Given the description of an element on the screen output the (x, y) to click on. 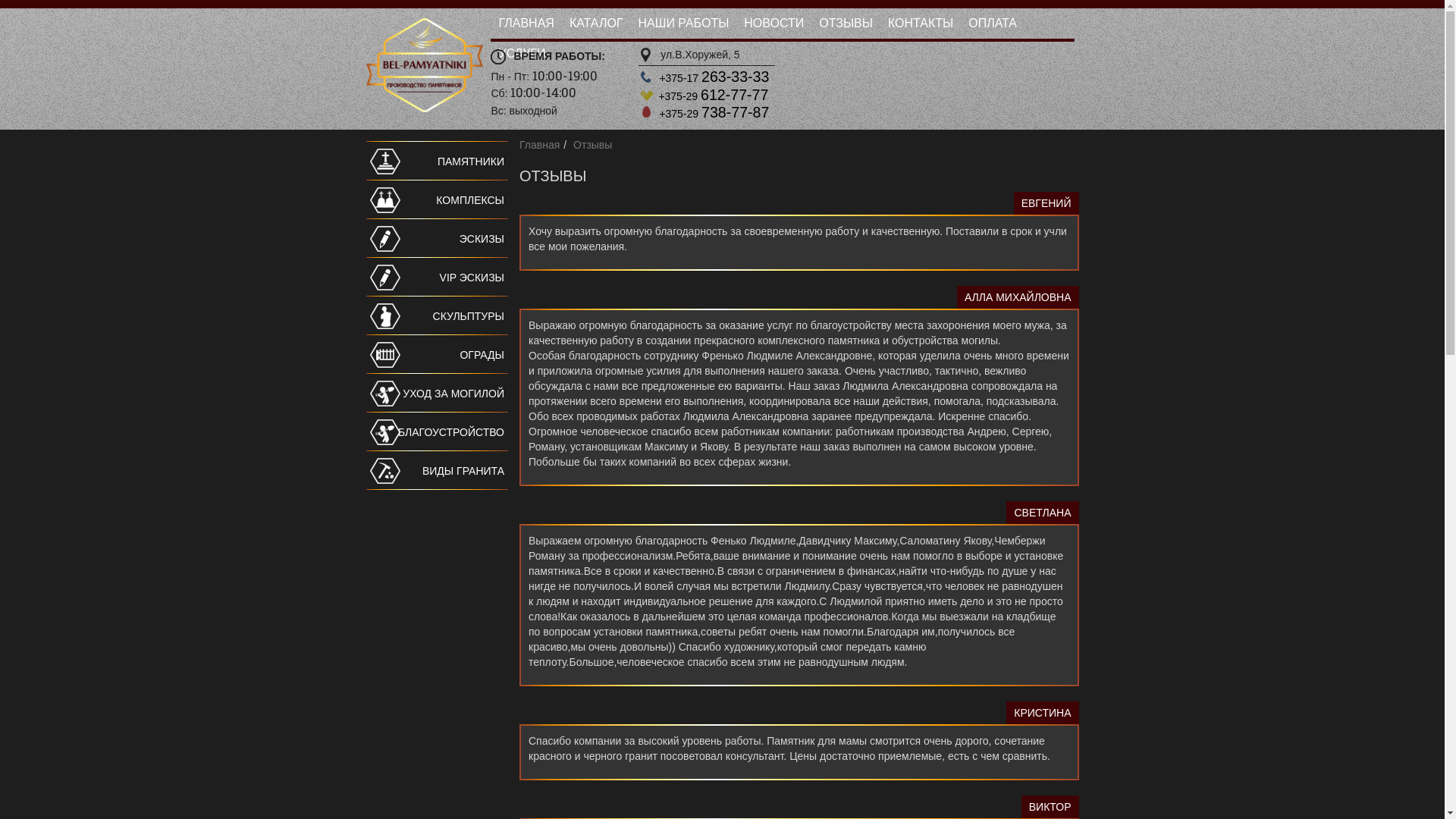
+375-29 612-77-77 Element type: text (713, 95)
+375-17 263-33-33 Element type: text (713, 78)
+375-29 738-77-87 Element type: text (713, 113)
